Given the description of an element on the screen output the (x, y) to click on. 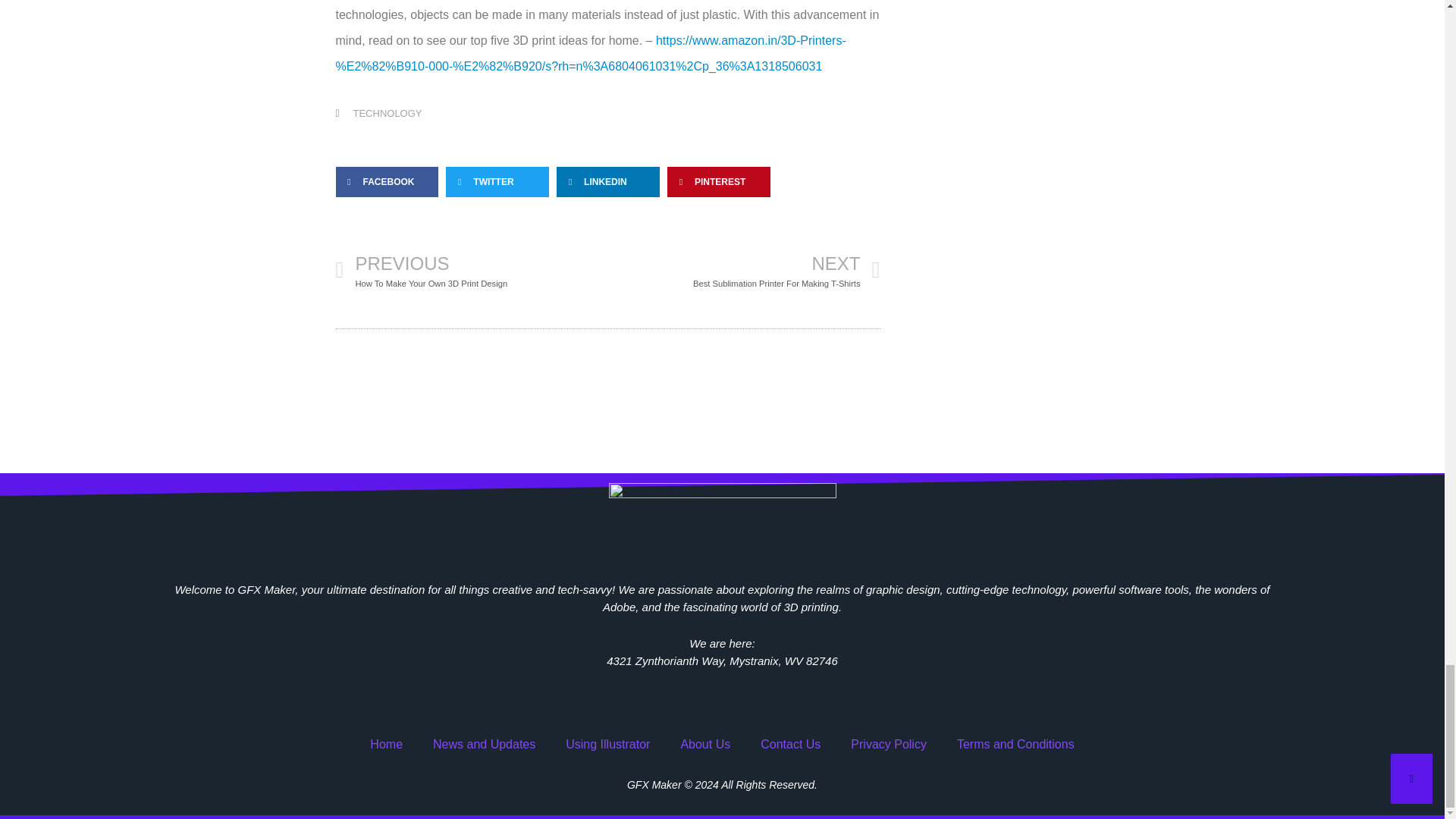
TECHNOLOGY (470, 270)
